Given the description of an element on the screen output the (x, y) to click on. 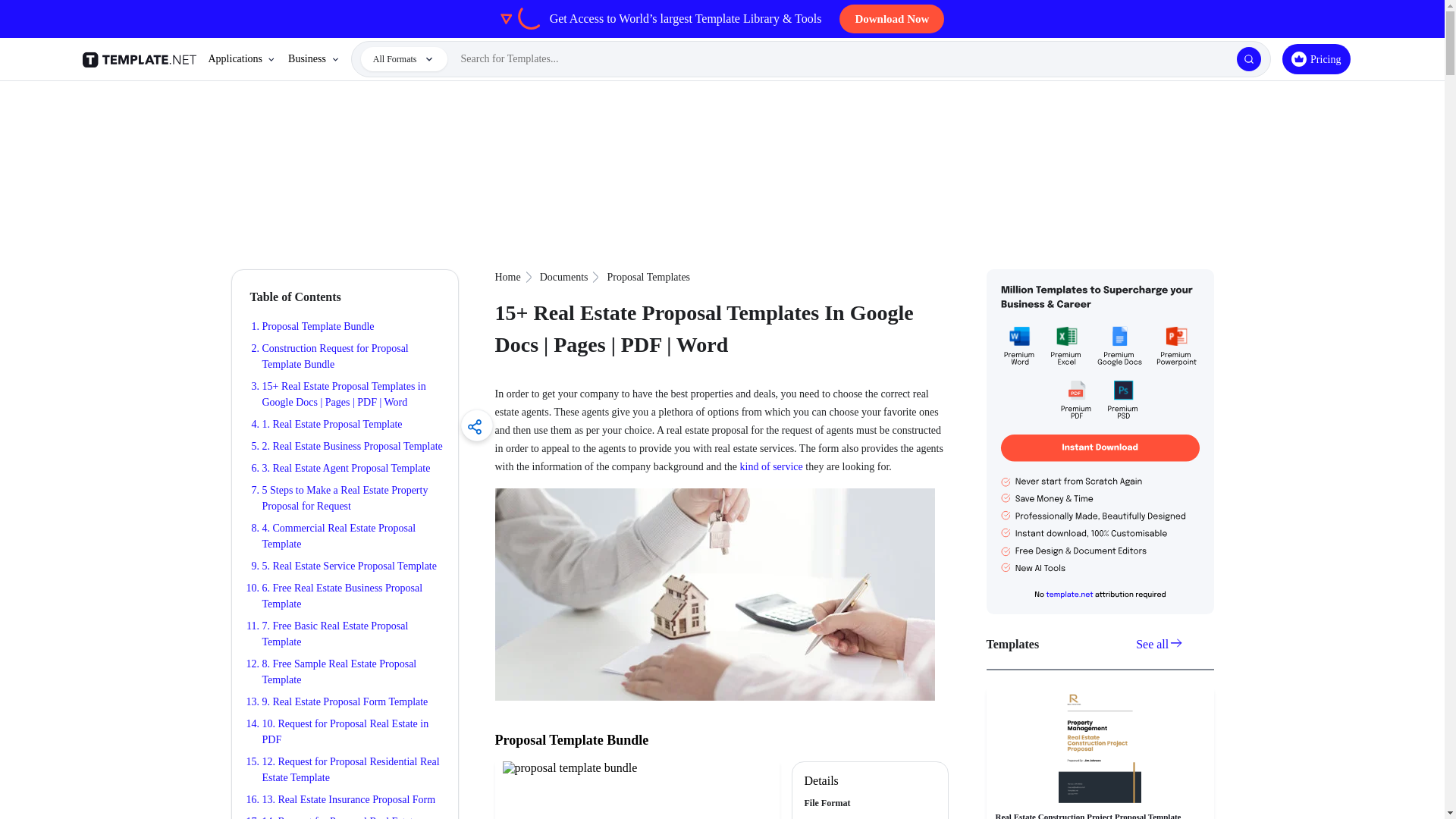
Template.net (141, 59)
Download Now (891, 18)
